Given the description of an element on the screen output the (x, y) to click on. 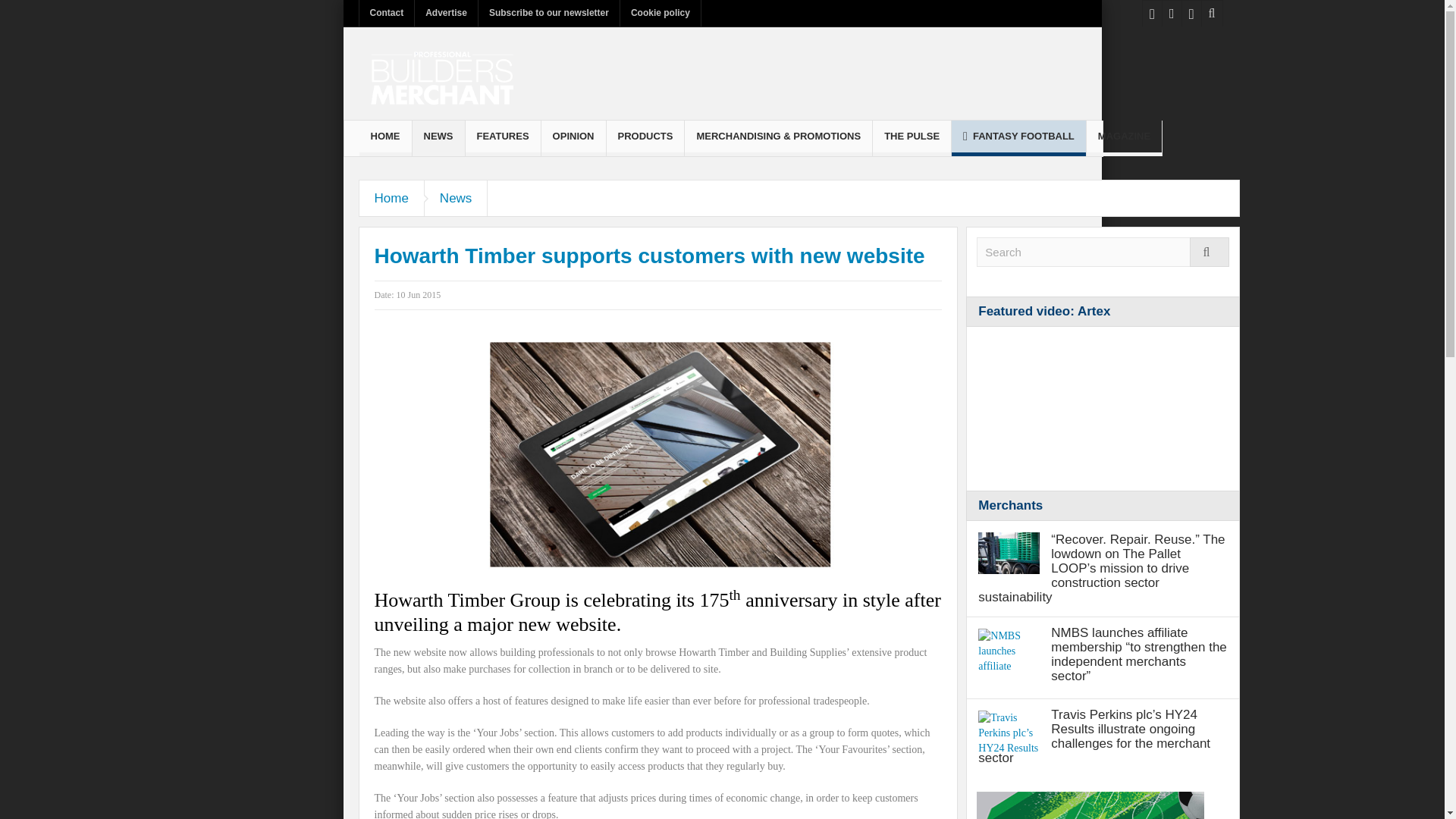
News (456, 198)
FEATURES (502, 138)
Professional Builders Merchant (441, 72)
Search (1102, 251)
FANTASY FOOTBALL (1019, 138)
Subscribe to our newsletter (549, 13)
HOME (385, 138)
NEWS (438, 138)
Search for: (1102, 251)
Contact (386, 13)
